Given the description of an element on the screen output the (x, y) to click on. 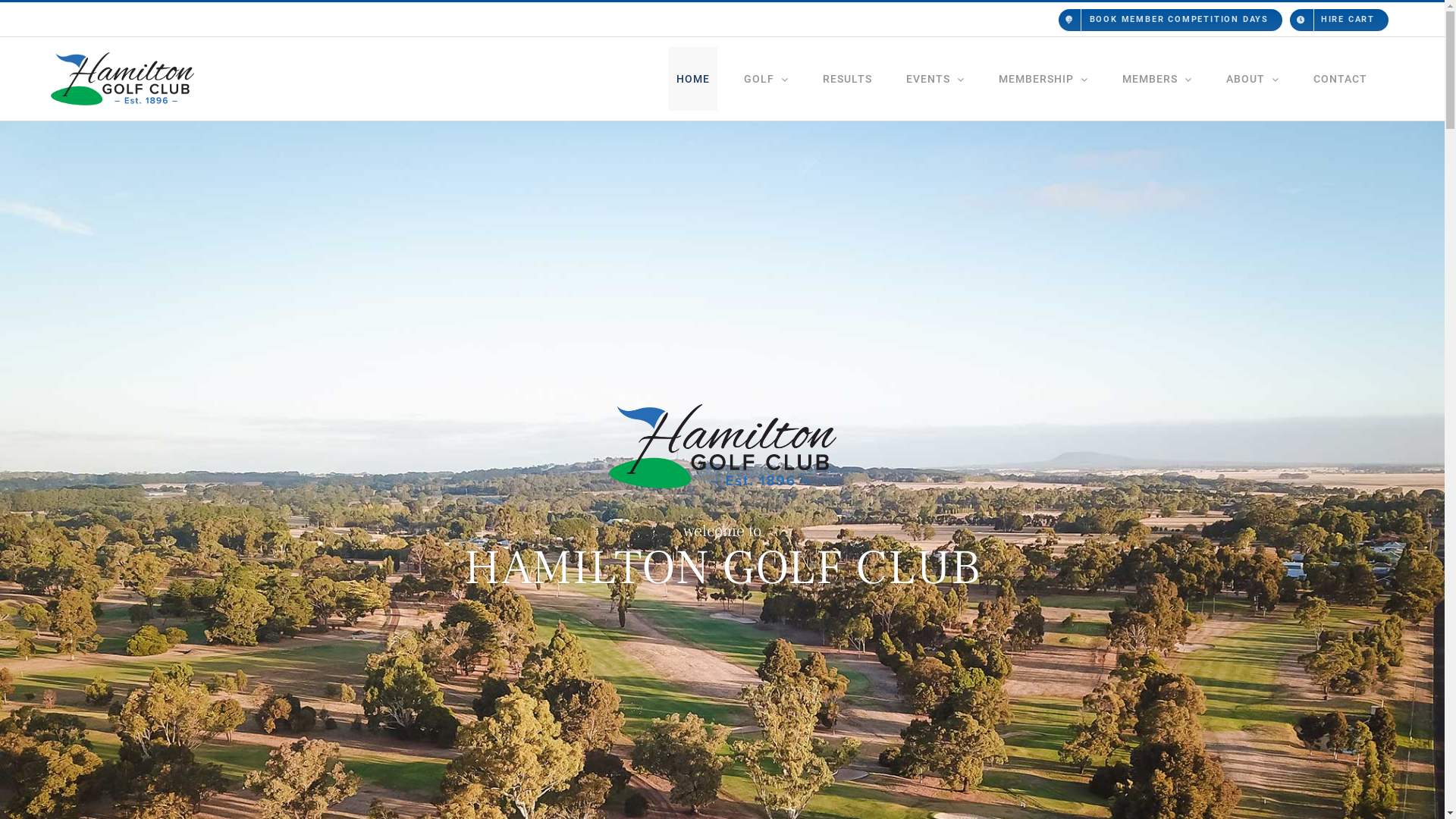
Hamilton GC Logo Element type: hover (721, 446)
RESULTS Element type: text (847, 78)
ABOUT Element type: text (1252, 78)
CONTACT Element type: text (1339, 78)
MEMBERSHIP Element type: text (1043, 78)
MEMBERS Element type: text (1156, 78)
EVENTS Element type: text (935, 78)
GOLF Element type: text (766, 78)
BOOK MEMBER COMPETITION DAYS Element type: text (1300, 20)
HOME Element type: text (692, 78)
